Given the description of an element on the screen output the (x, y) to click on. 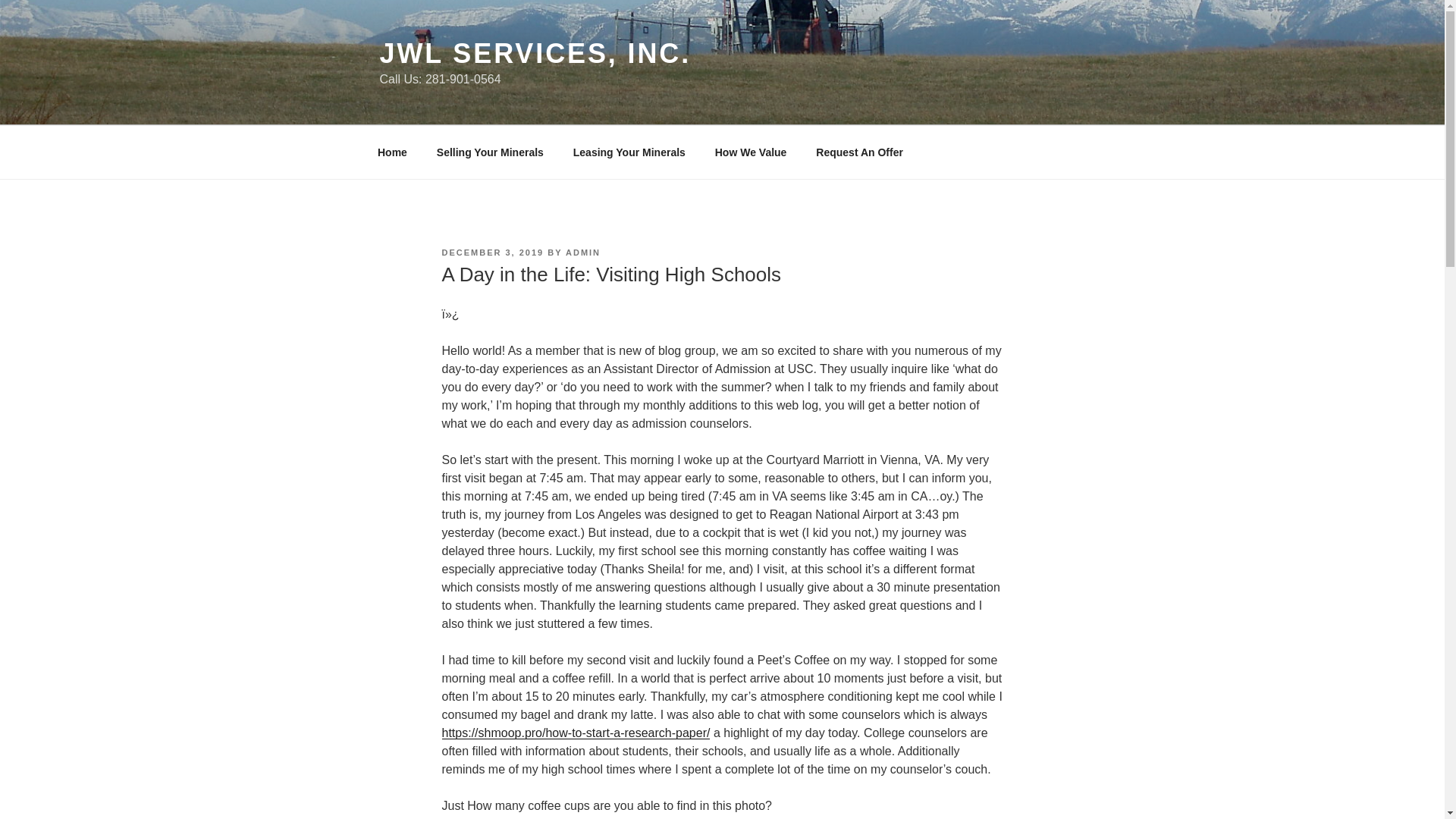
Home (392, 151)
JWL SERVICES, INC. (534, 52)
Request An Offer (860, 151)
ADMIN (582, 252)
DECEMBER 3, 2019 (492, 252)
Selling Your Minerals (489, 151)
Leasing Your Minerals (628, 151)
How We Value (750, 151)
